Given the description of an element on the screen output the (x, y) to click on. 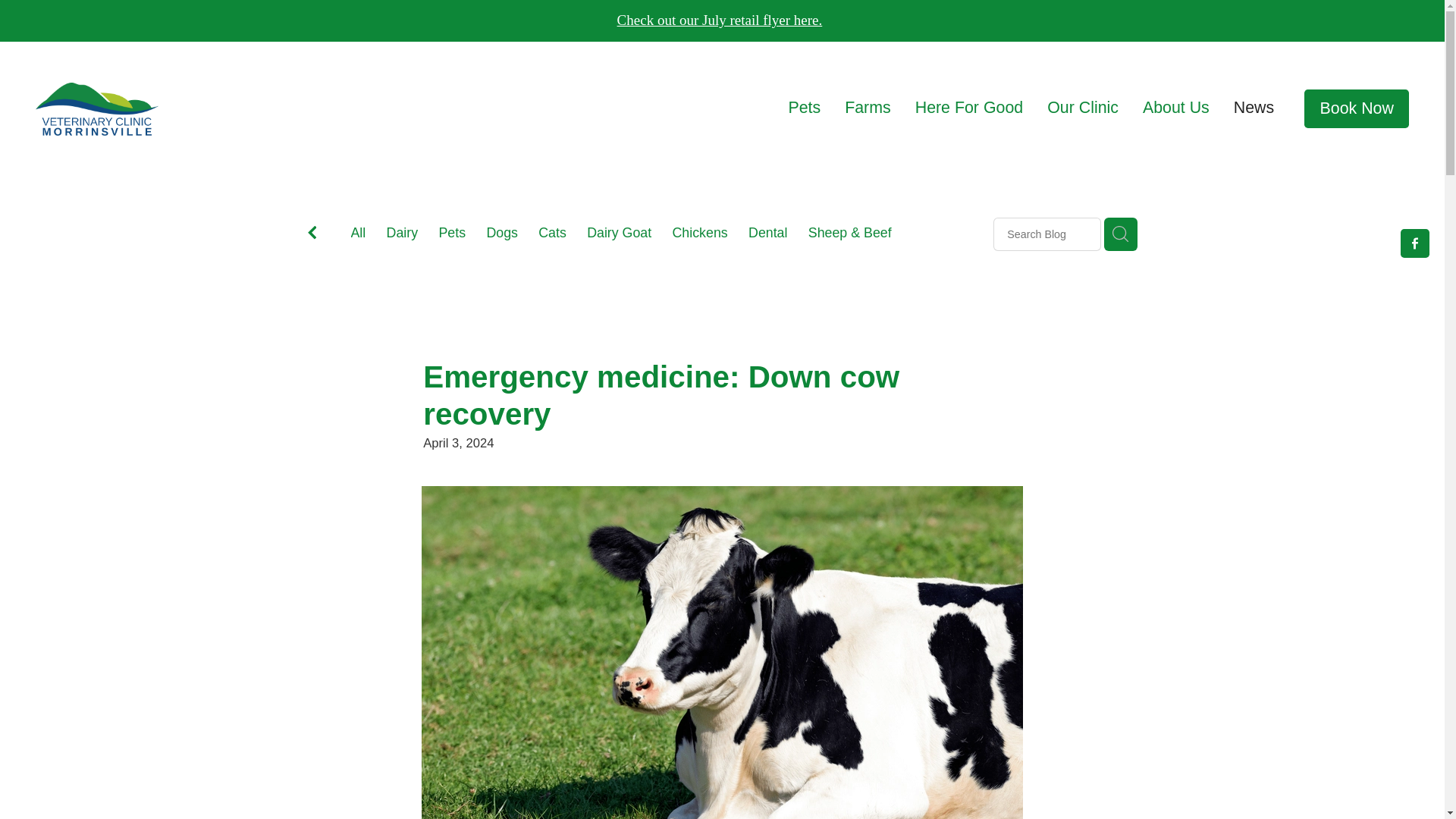
Cats (552, 234)
Check out our July retail flyer here. (719, 19)
Our Clinic (1082, 107)
News (1253, 107)
Pets (804, 107)
All (357, 232)
A link to this website's Facebook. (1414, 243)
Dogs (502, 234)
Pets (451, 234)
Farms (867, 107)
Here For Good (969, 107)
Chickens (700, 234)
Dairy Goat (618, 234)
About Us (1175, 107)
Dairy (403, 234)
